Given the description of an element on the screen output the (x, y) to click on. 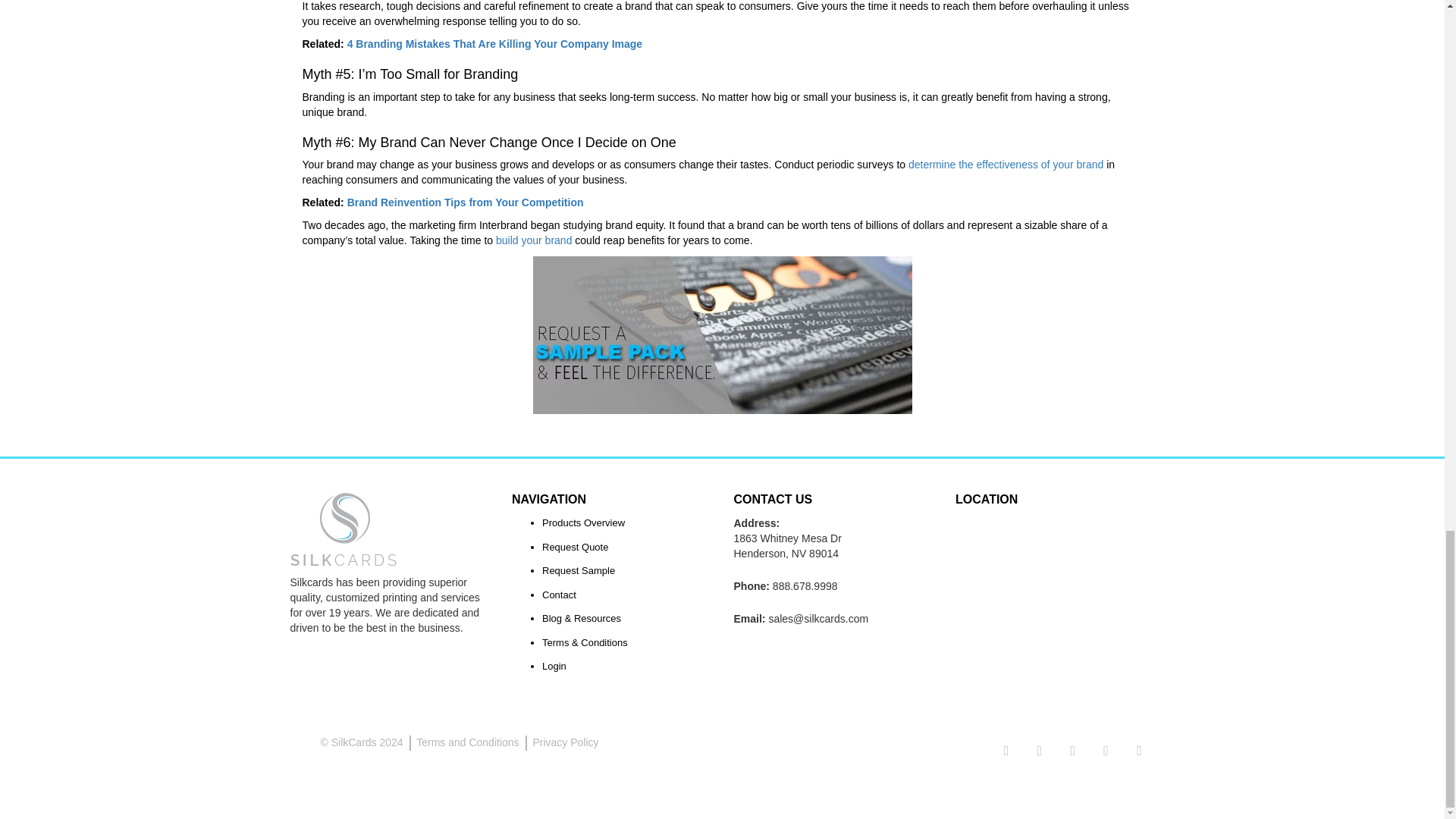
Silkcards on Telegram (1106, 750)
Silkcards on Instagram (1072, 750)
Silkcards on Twitter (1005, 750)
Call us (805, 585)
Silkcards on YouTube (1139, 750)
Silkcards on Facebook (1039, 750)
Email us (817, 618)
